Given the description of an element on the screen output the (x, y) to click on. 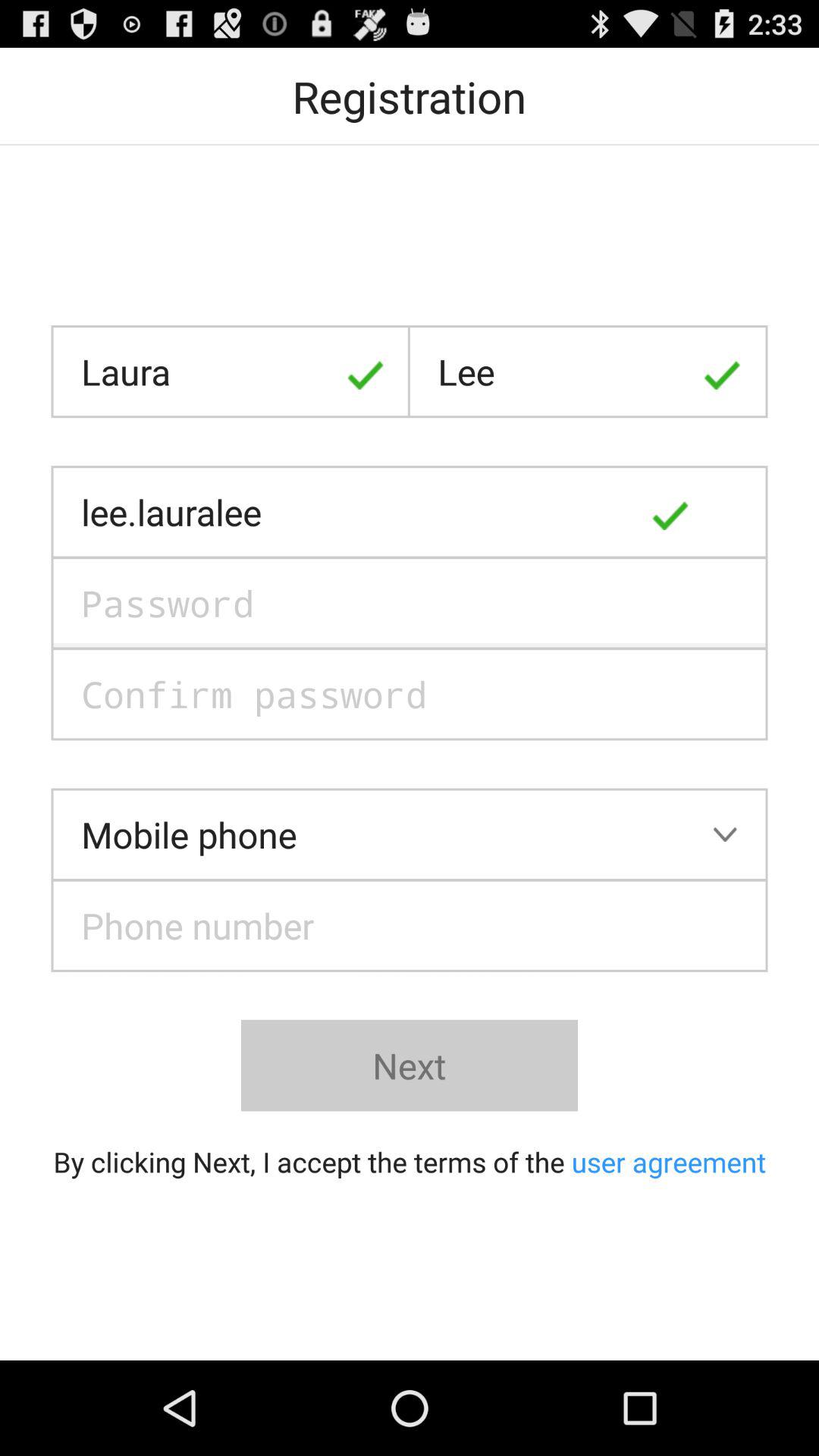
open the icon below the registration app (231, 371)
